Given the description of an element on the screen output the (x, y) to click on. 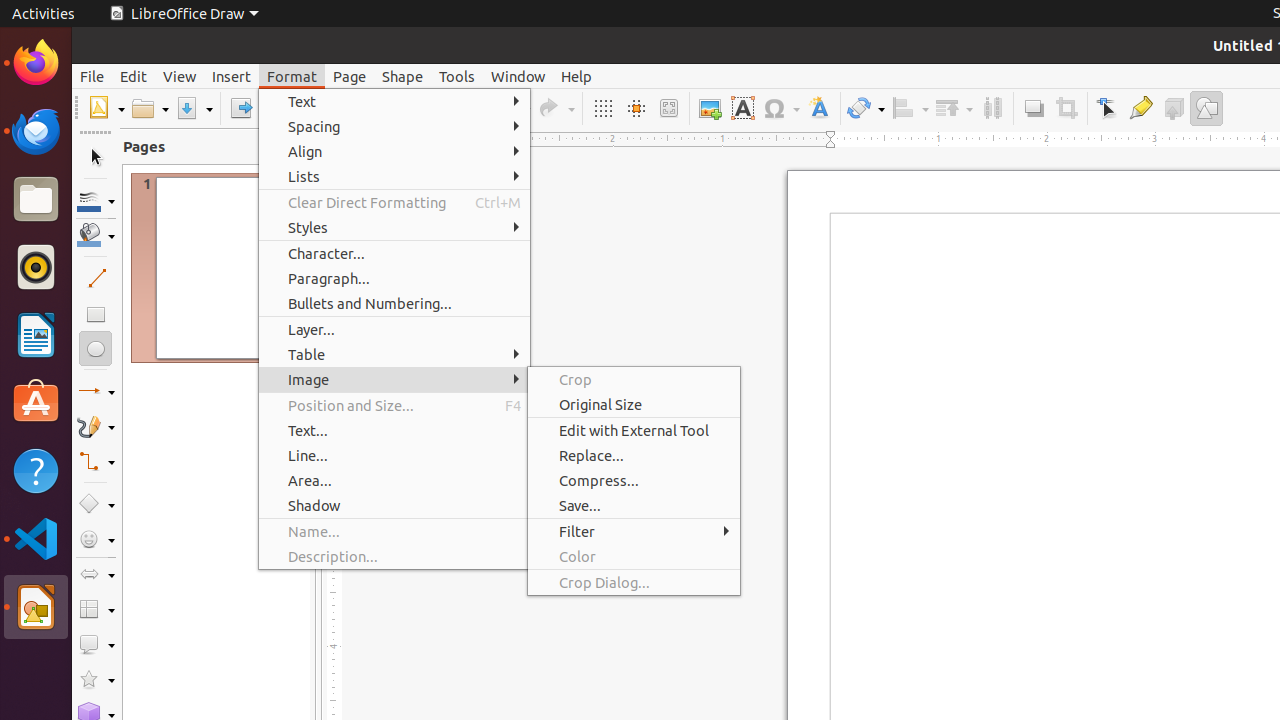
LibreOffice Draw Element type: push-button (36, 607)
Color Element type: menu-item (634, 556)
Position and Size... Element type: menu-item (394, 405)
Layer... Element type: menu-item (394, 329)
